Given the description of an element on the screen output the (x, y) to click on. 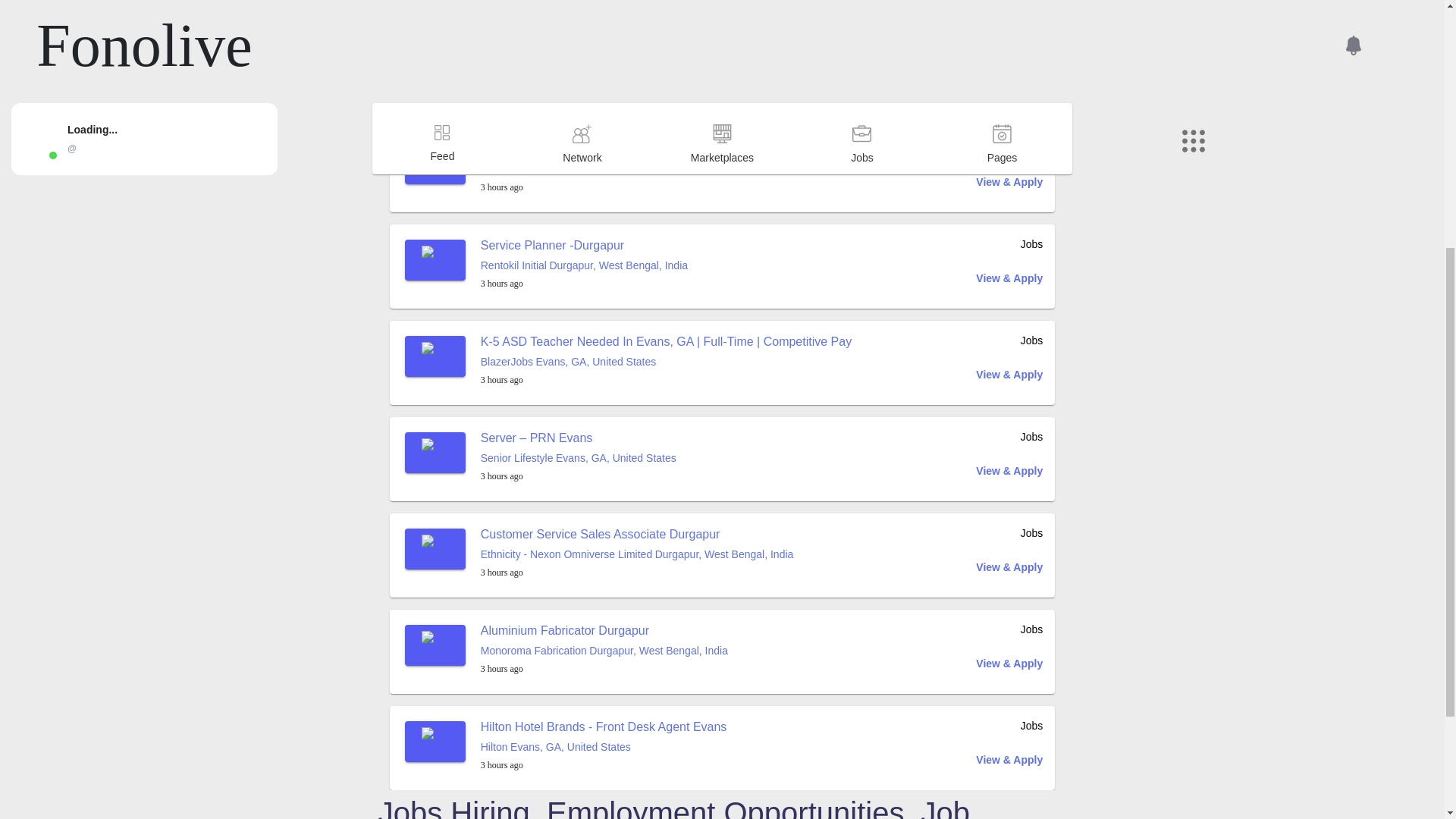
Durgapur, West Bengal, India (592, 168)
Relationship Manager - Insurance Durgapur (598, 148)
Service Planner -Durgapur (552, 245)
AUGUSTA RV (514, 72)
Evans, GA, United States (610, 72)
TekPillar (500, 168)
